Given the description of an element on the screen output the (x, y) to click on. 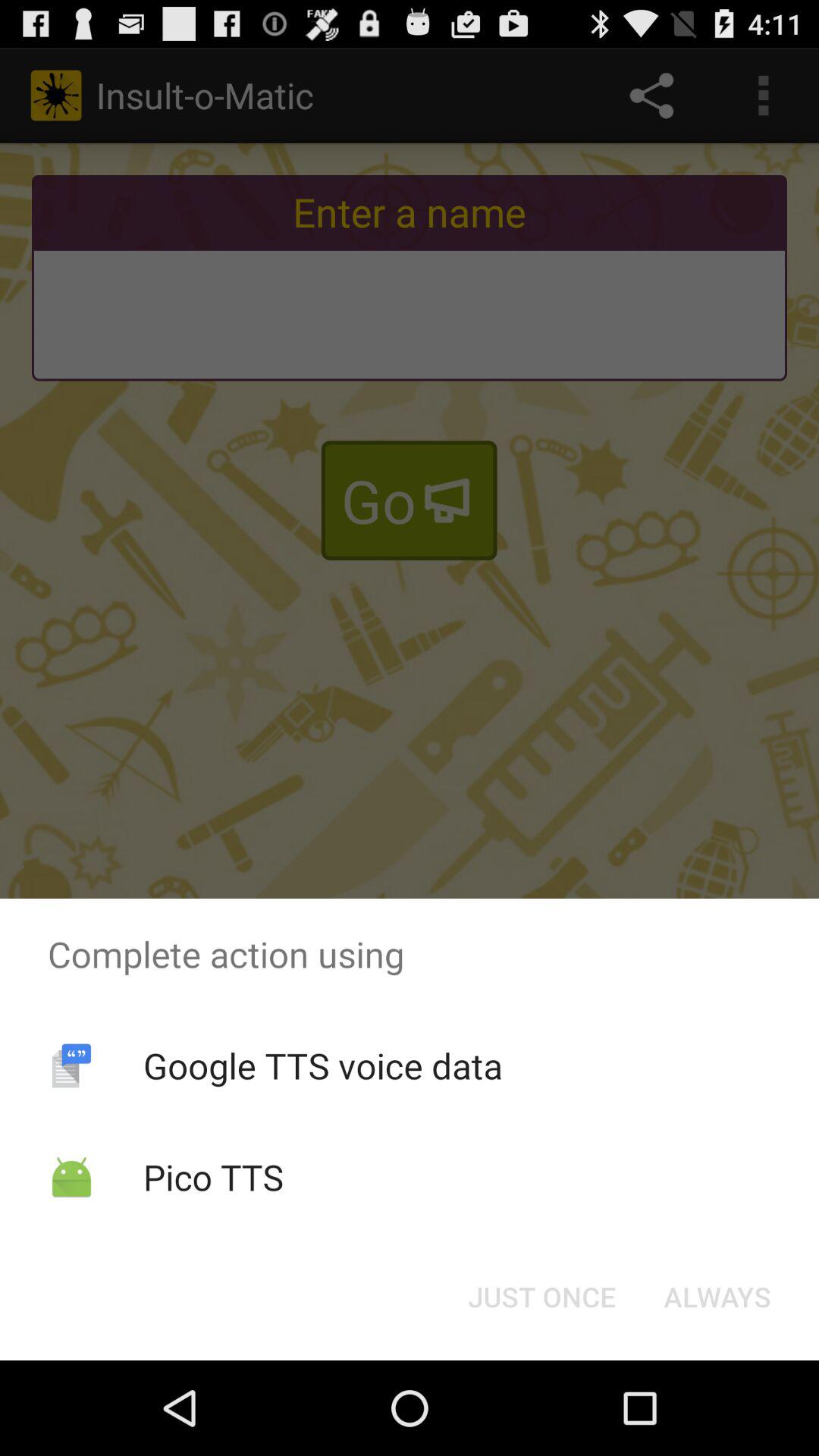
turn off app below complete action using app (322, 1065)
